Given the description of an element on the screen output the (x, y) to click on. 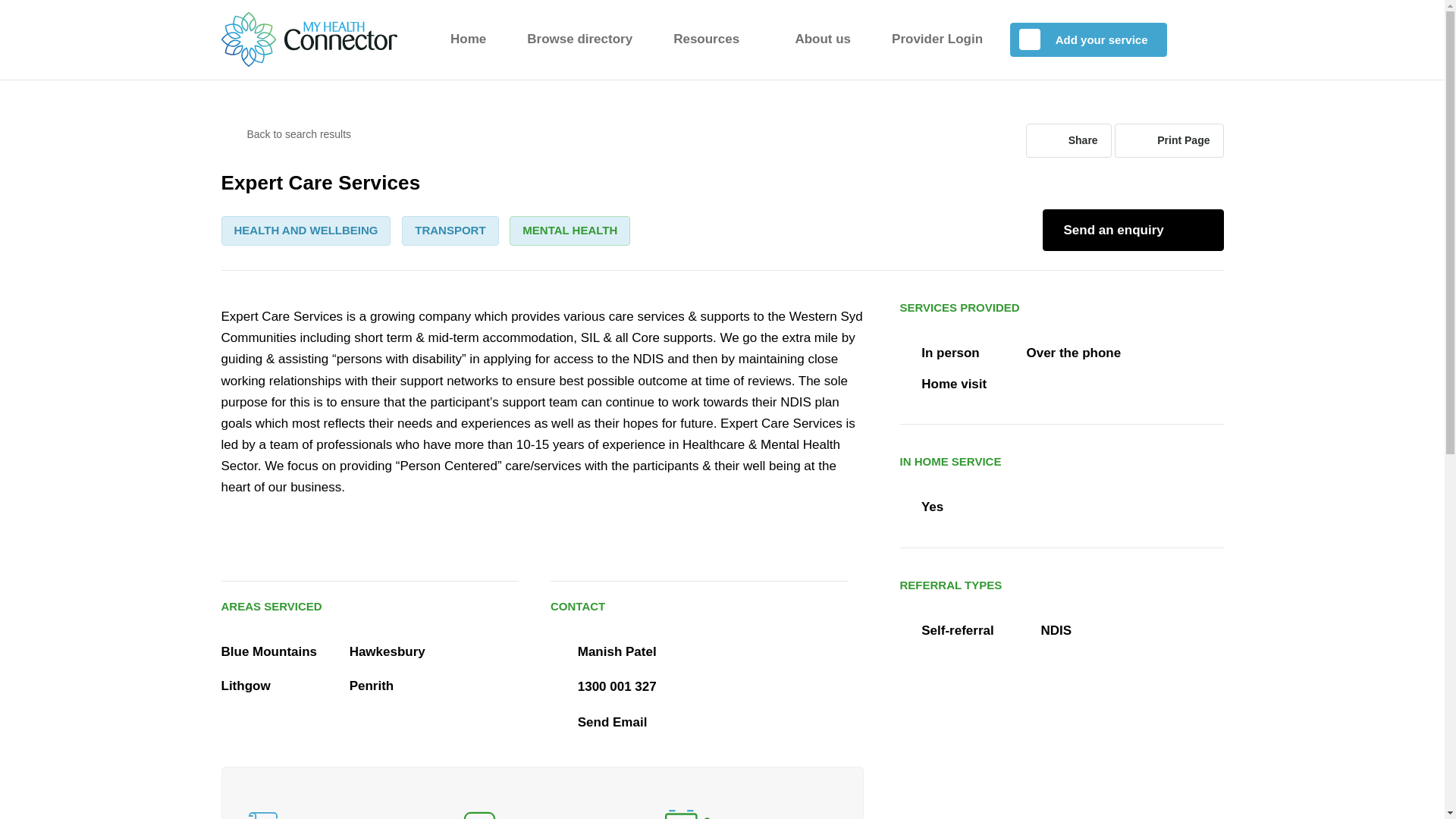
TRANSPORT (449, 230)
Resources (713, 39)
HEALTH AND WELLBEING (306, 230)
1300 001 327 (617, 686)
Share (1069, 140)
Print Page (1169, 140)
About us (822, 39)
Add your service (1088, 39)
MENTAL HEALTH (569, 230)
Send an enquiry (1132, 229)
